Given the description of an element on the screen output the (x, y) to click on. 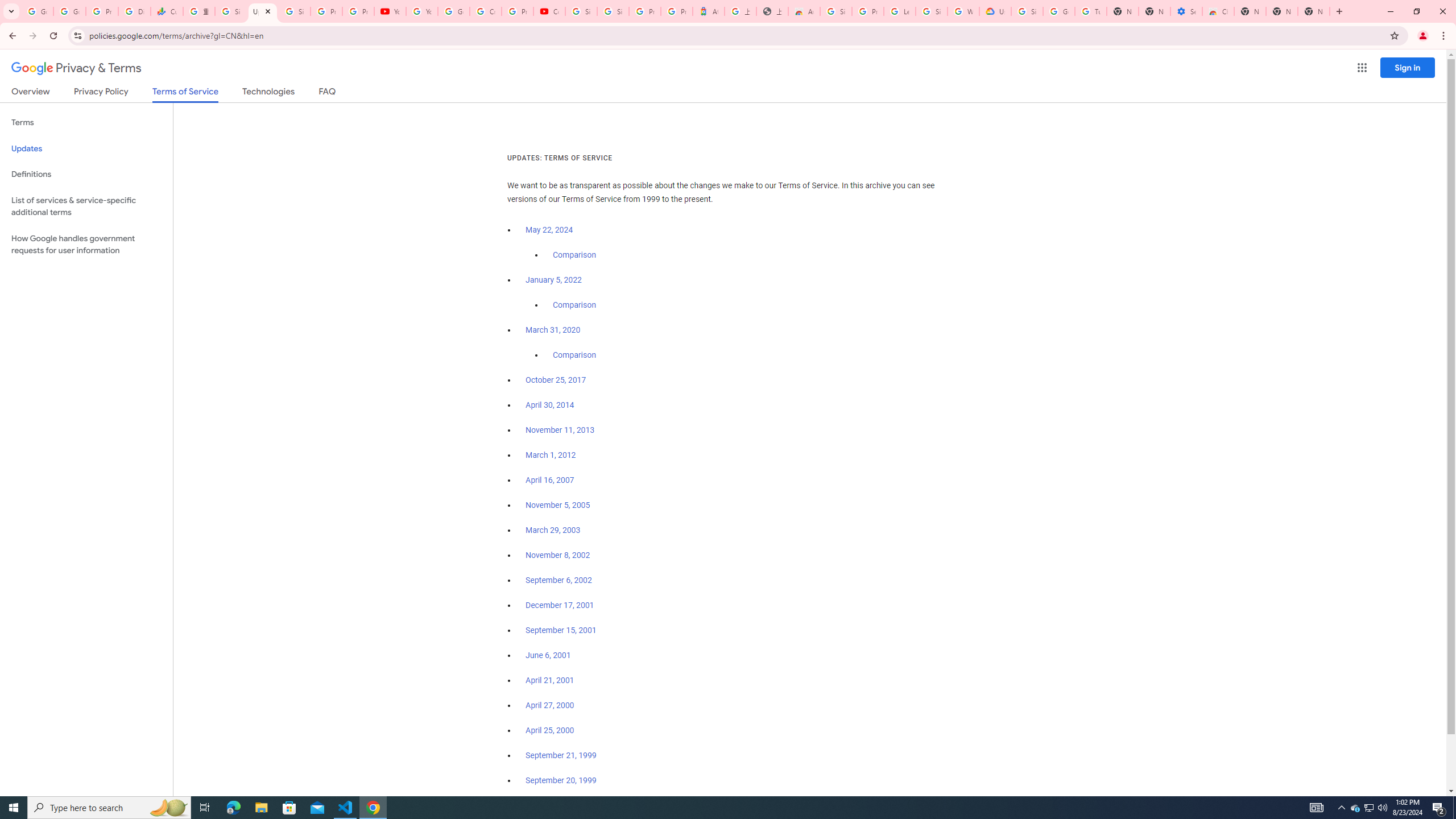
May 22, 2024 (549, 230)
Google Account Help (1059, 11)
Privacy & Terms (76, 68)
April 25, 2000 (550, 729)
Comparison (574, 355)
September 15, 2001 (560, 629)
